Given the description of an element on the screen output the (x, y) to click on. 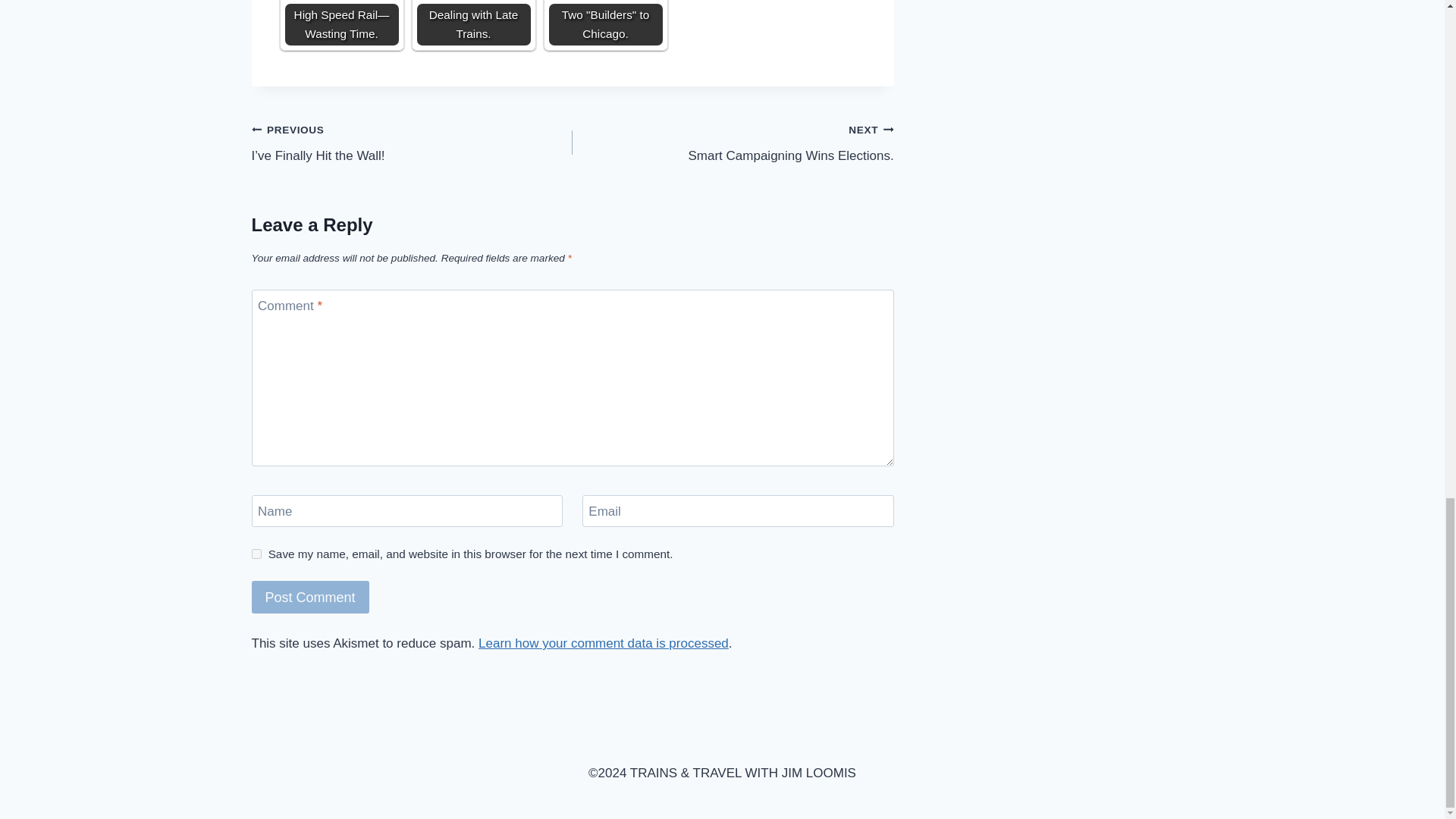
yes (256, 553)
Two "Builders" to Chicago. (732, 142)
Dealing with Late Trains. (605, 22)
Post Comment (473, 22)
Dealing with Late Trains. (310, 596)
Two "Builders" to Chicago. (473, 22)
